Given the description of an element on the screen output the (x, y) to click on. 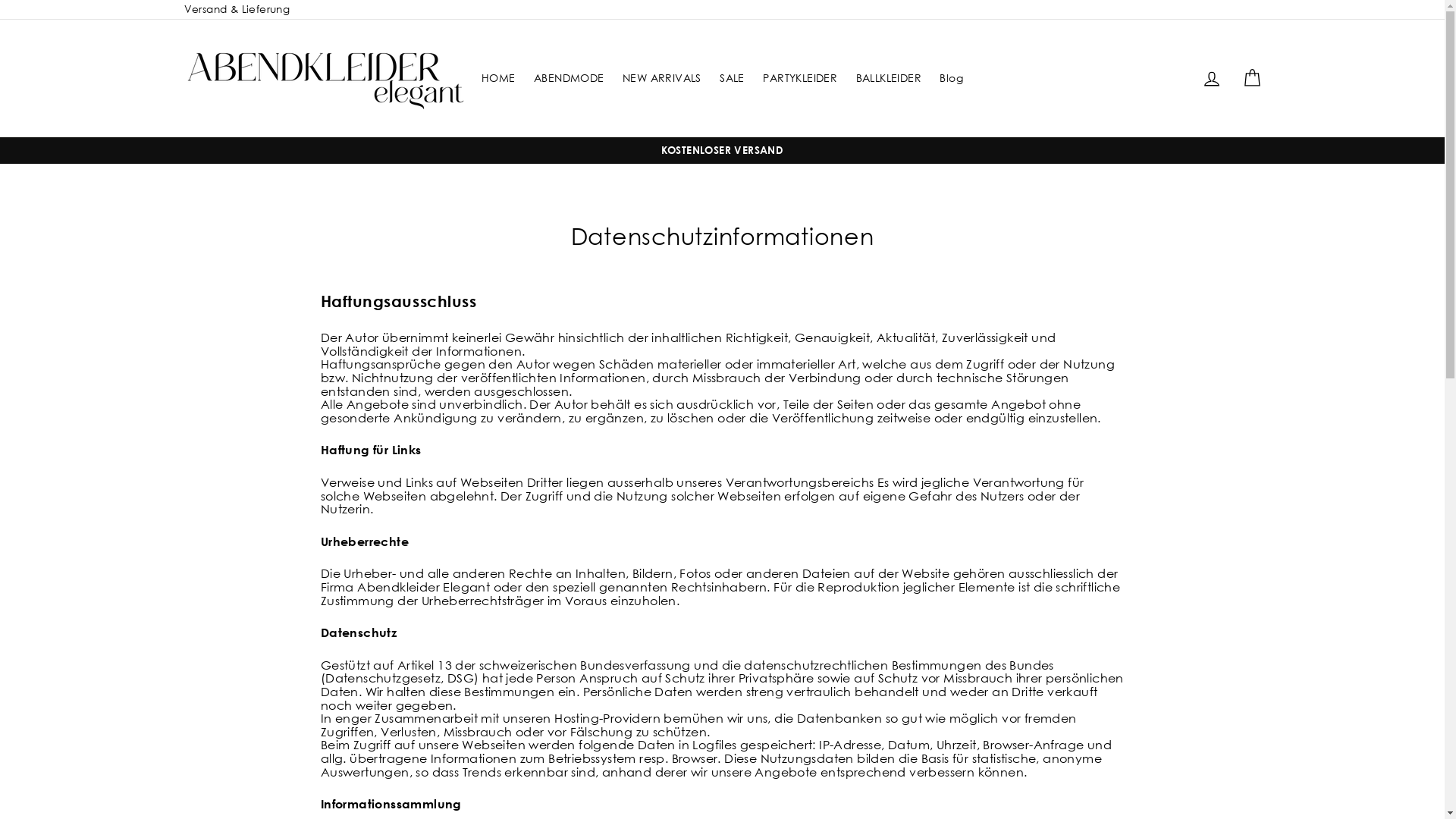
Blog Element type: text (950, 77)
HOME Element type: text (498, 77)
Direkt zum Inhalt Element type: text (0, 0)
PARTYKLEIDER Element type: text (799, 77)
Einkaufswagen Element type: text (1251, 77)
SALE Element type: text (732, 77)
Einloggen Element type: text (1211, 77)
ABENDMODE Element type: text (568, 77)
NEW ARRIVALS Element type: text (662, 77)
Versand & Lieferung Element type: text (236, 9)
BALLKLEIDER Element type: text (888, 77)
